Given the description of an element on the screen output the (x, y) to click on. 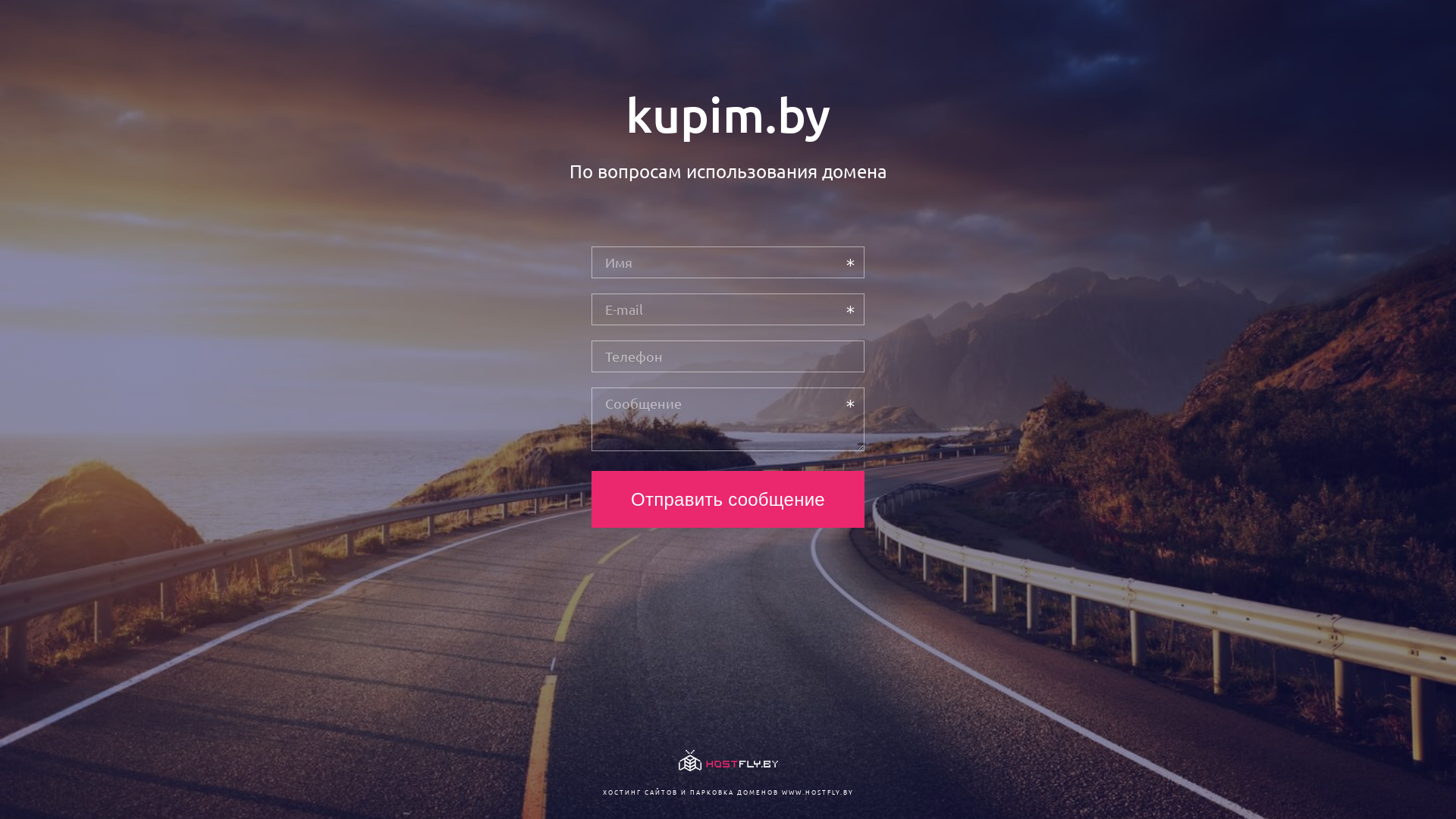
WWW.HOSTFLY.BY Element type: text (817, 791)
